Given the description of an element on the screen output the (x, y) to click on. 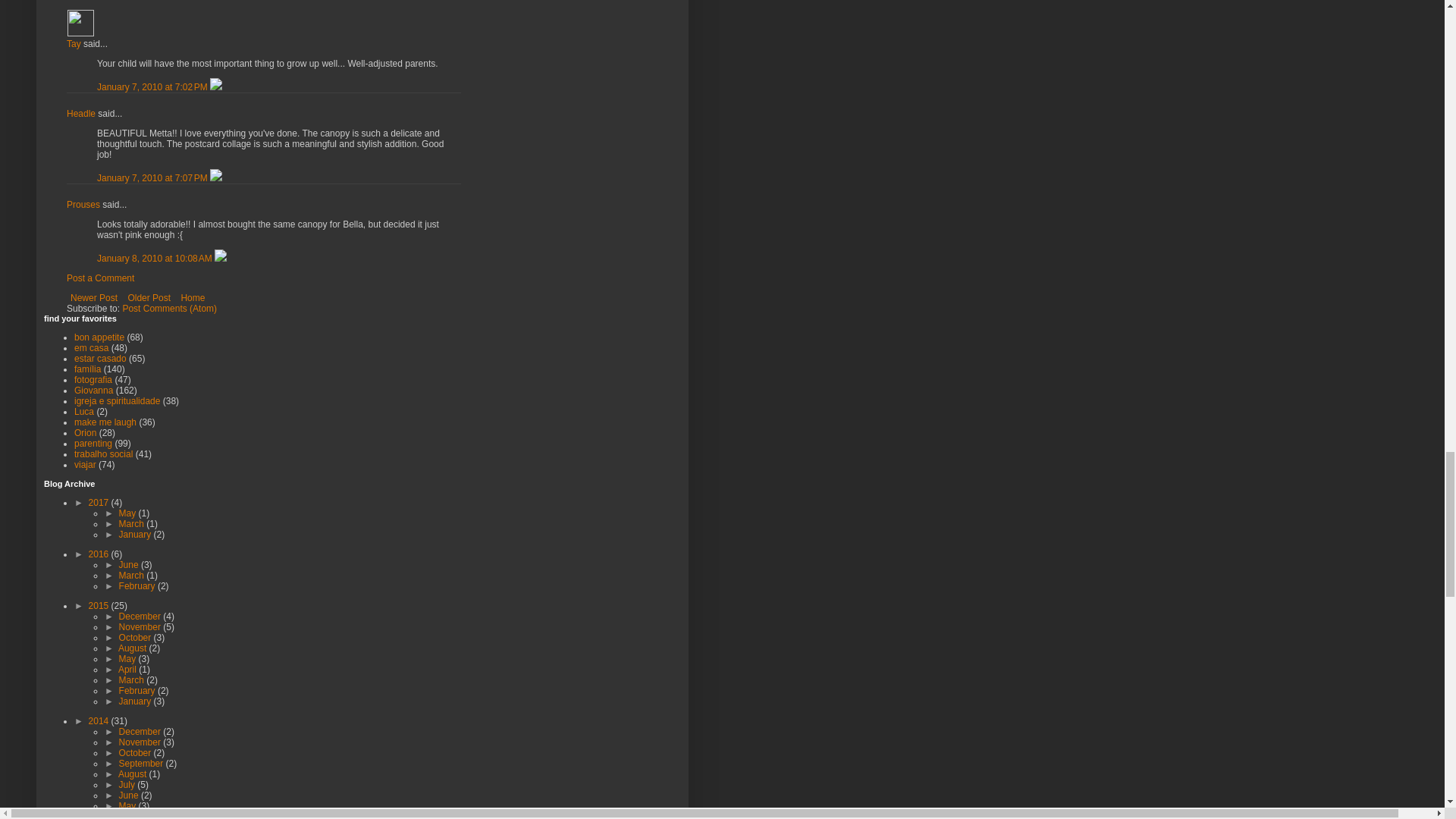
Tay (73, 43)
Headle (81, 113)
